Given the description of an element on the screen output the (x, y) to click on. 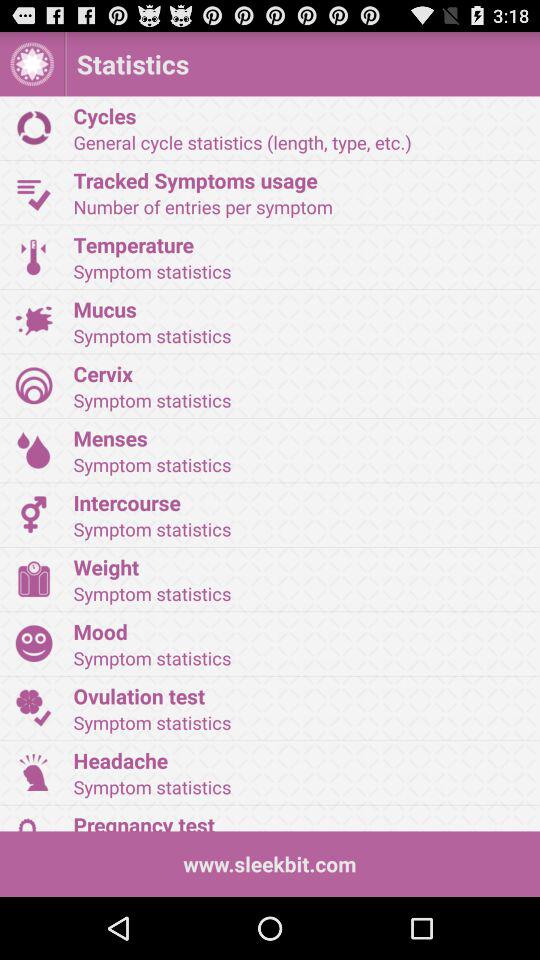
select item below the number of entries app (299, 244)
